Given the description of an element on the screen output the (x, y) to click on. 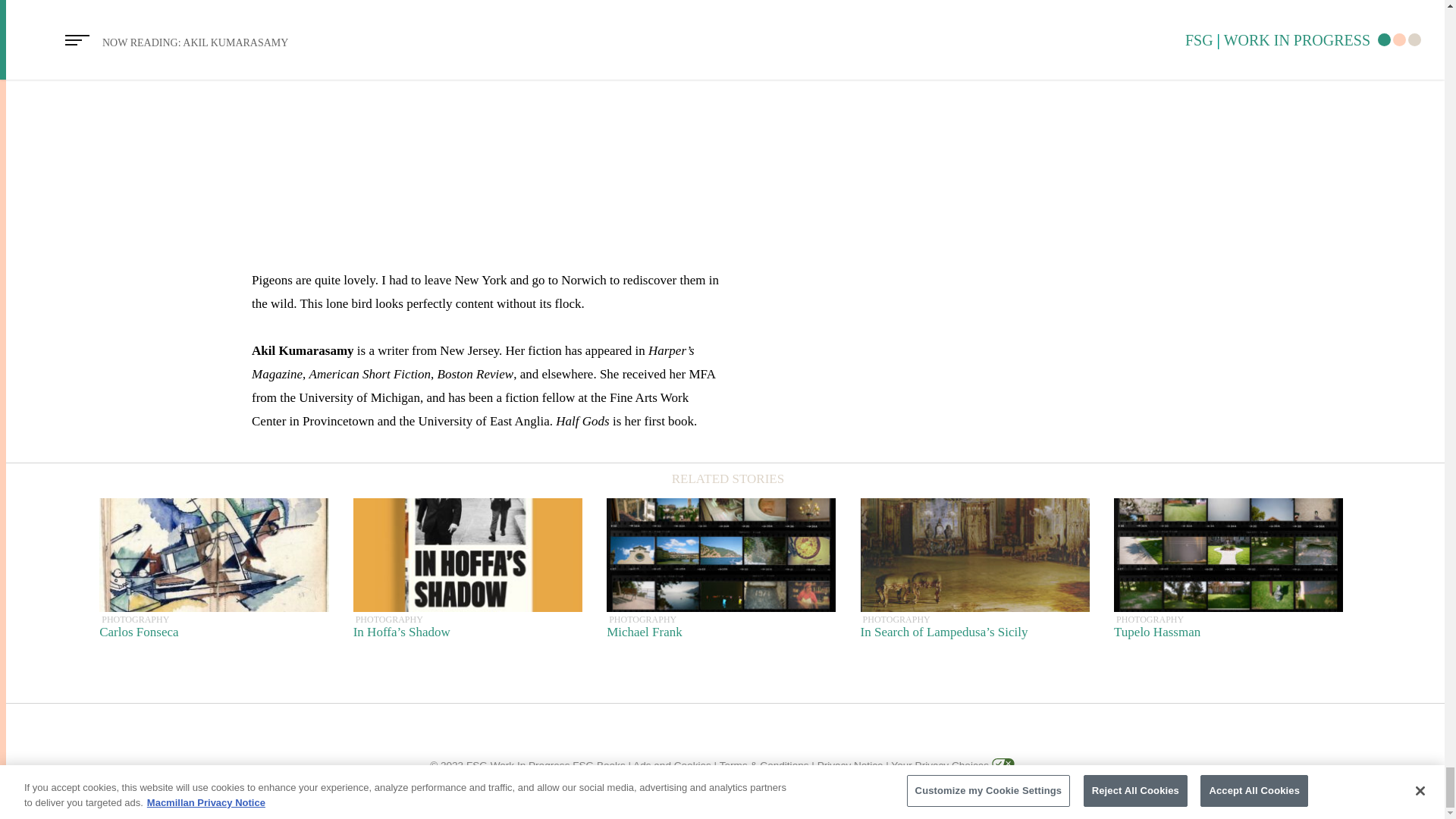
Ads and Cookies (1227, 574)
Your Privacy Choices (214, 574)
FSG Books (721, 574)
Privacy Notice (672, 765)
